Given the description of an element on the screen output the (x, y) to click on. 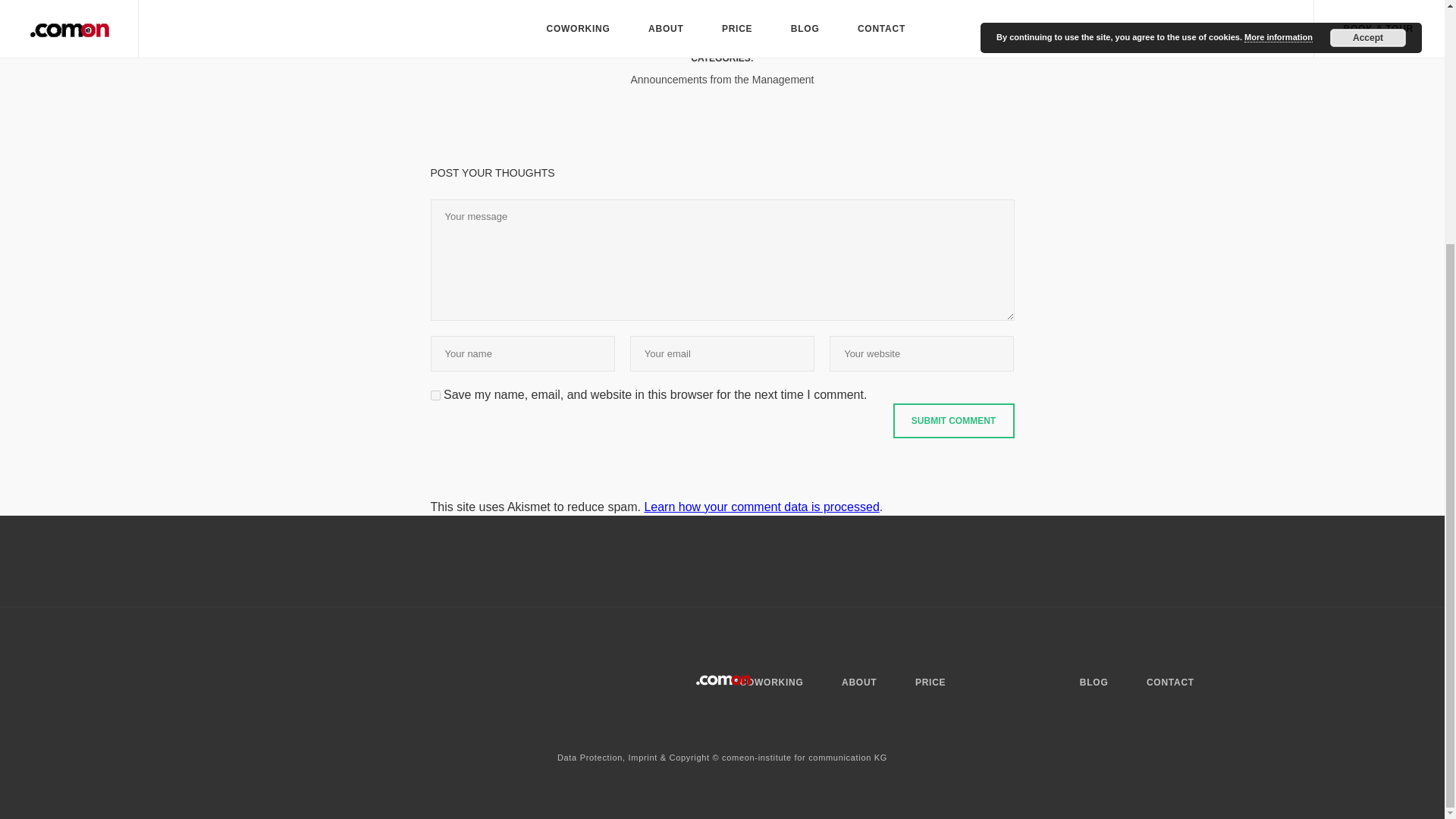
Submit Comment (953, 420)
Announcements from the Management (721, 79)
COWORKING (771, 682)
yes (435, 395)
Learn how your comment data is processed (761, 506)
Submit Comment (953, 420)
CONTACT (1170, 682)
PRICE (929, 682)
BLOG (1094, 682)
ABOUT (858, 682)
